Given the description of an element on the screen output the (x, y) to click on. 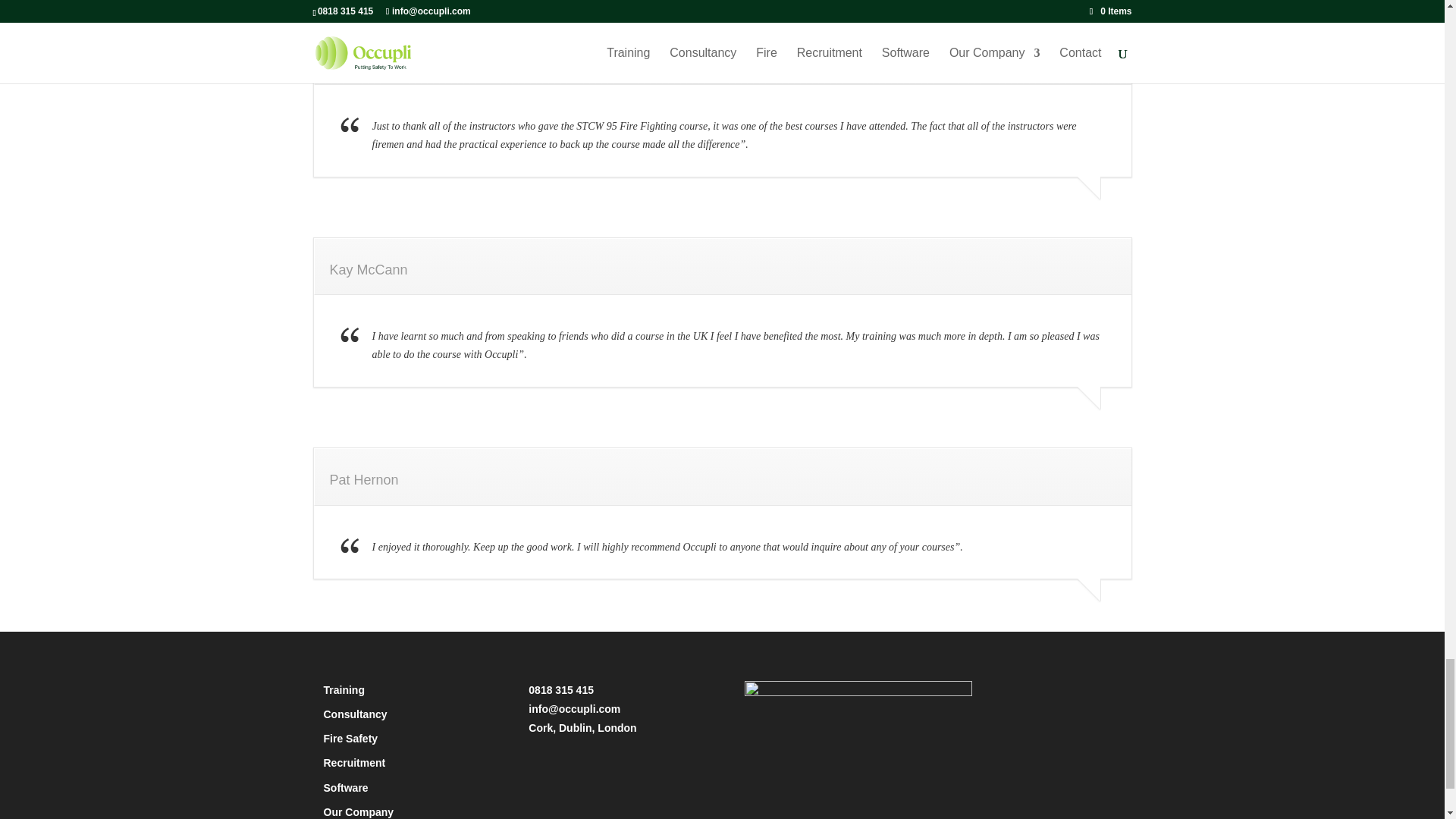
Training (343, 689)
Recruitment (354, 762)
Fire Safety (350, 738)
Our Company (358, 811)
Consultancy (355, 714)
Software (345, 787)
